Given the description of an element on the screen output the (x, y) to click on. 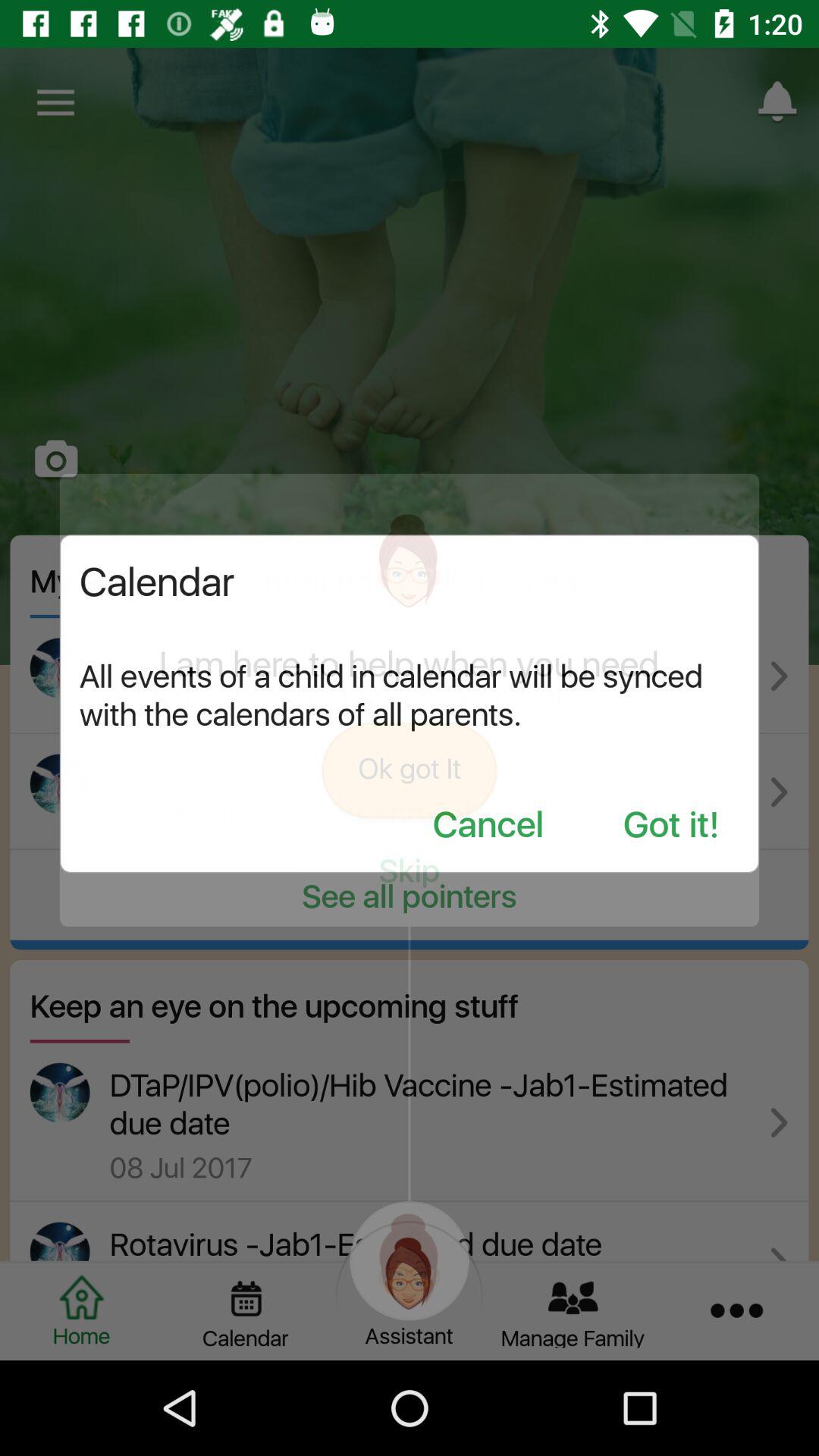
open got it! on the right (671, 826)
